Given the description of an element on the screen output the (x, y) to click on. 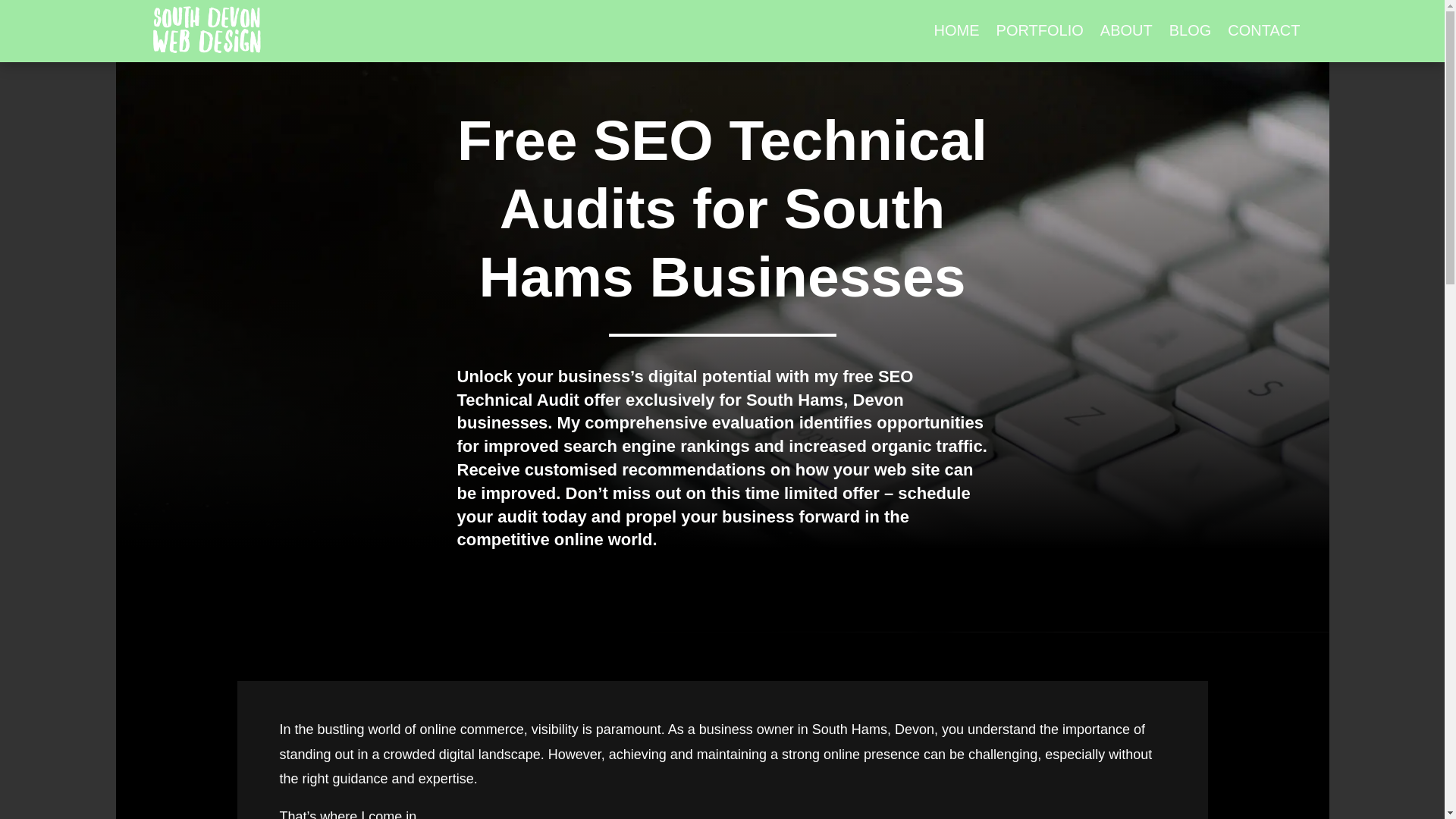
CONTACT (1263, 30)
PORTFOLIO (1039, 30)
